Given the description of an element on the screen output the (x, y) to click on. 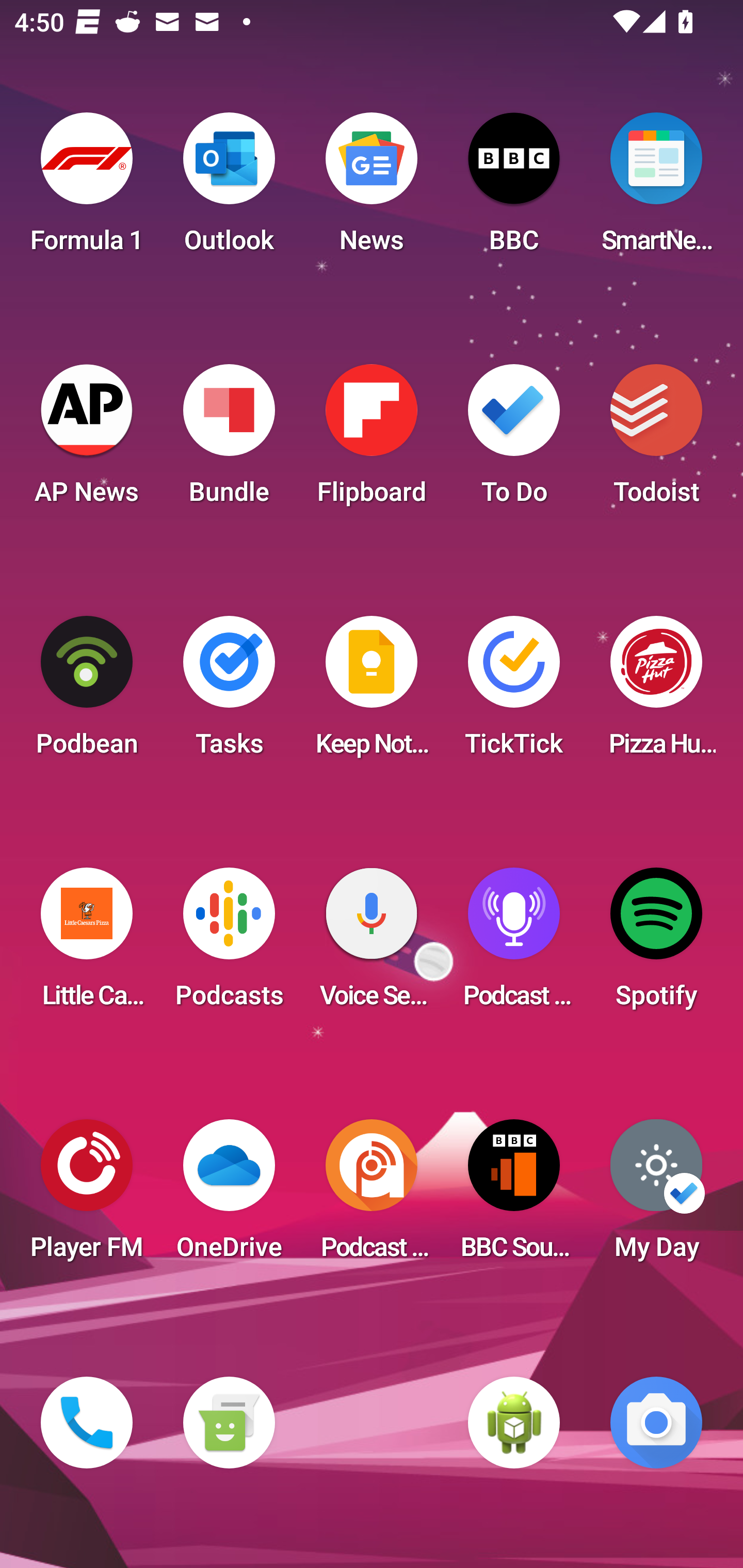
Formula 1 (86, 188)
Outlook (228, 188)
News (371, 188)
BBC (513, 188)
SmartNews (656, 188)
AP News (86, 440)
Bundle (228, 440)
Flipboard (371, 440)
To Do (513, 440)
Todoist (656, 440)
Podbean (86, 692)
Tasks (228, 692)
Keep Notes (371, 692)
TickTick (513, 692)
Pizza Hut HK & Macau (656, 692)
Little Caesars Pizza (86, 943)
Podcasts (228, 943)
Voice Search (371, 943)
Podcast Player (513, 943)
Spotify (656, 943)
Player FM (86, 1195)
OneDrive (228, 1195)
Podcast Addict (371, 1195)
BBC Sounds (513, 1195)
My Day (656, 1195)
Phone (86, 1422)
Messaging (228, 1422)
WebView Browser Tester (513, 1422)
Camera (656, 1422)
